Given the description of an element on the screen output the (x, y) to click on. 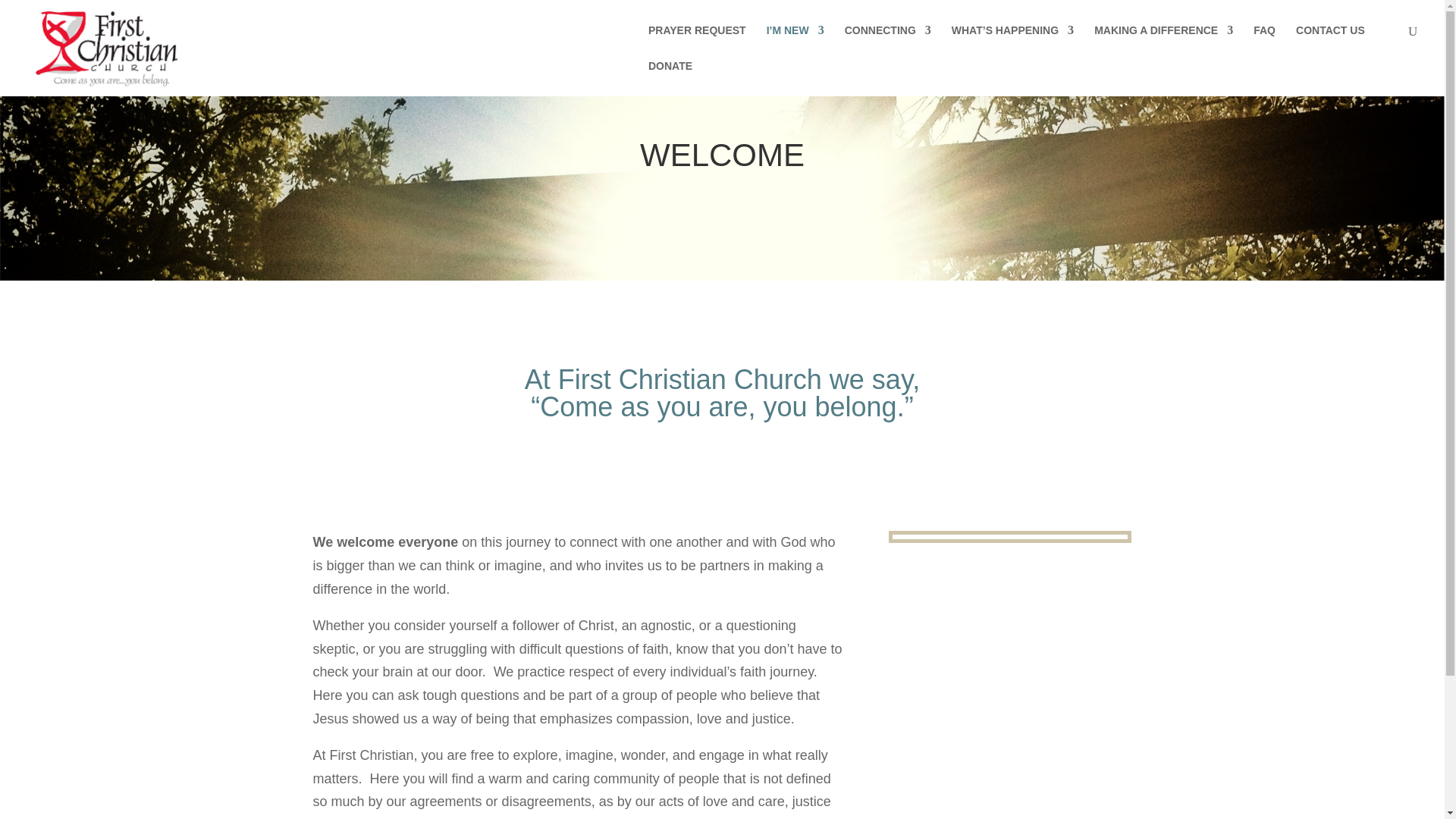
CONNECTING (887, 42)
DONATE (670, 78)
MAKING A DIFFERENCE (1163, 42)
CONTACT US (1330, 42)
PRAYER REQUEST (696, 42)
